Given the description of an element on the screen output the (x, y) to click on. 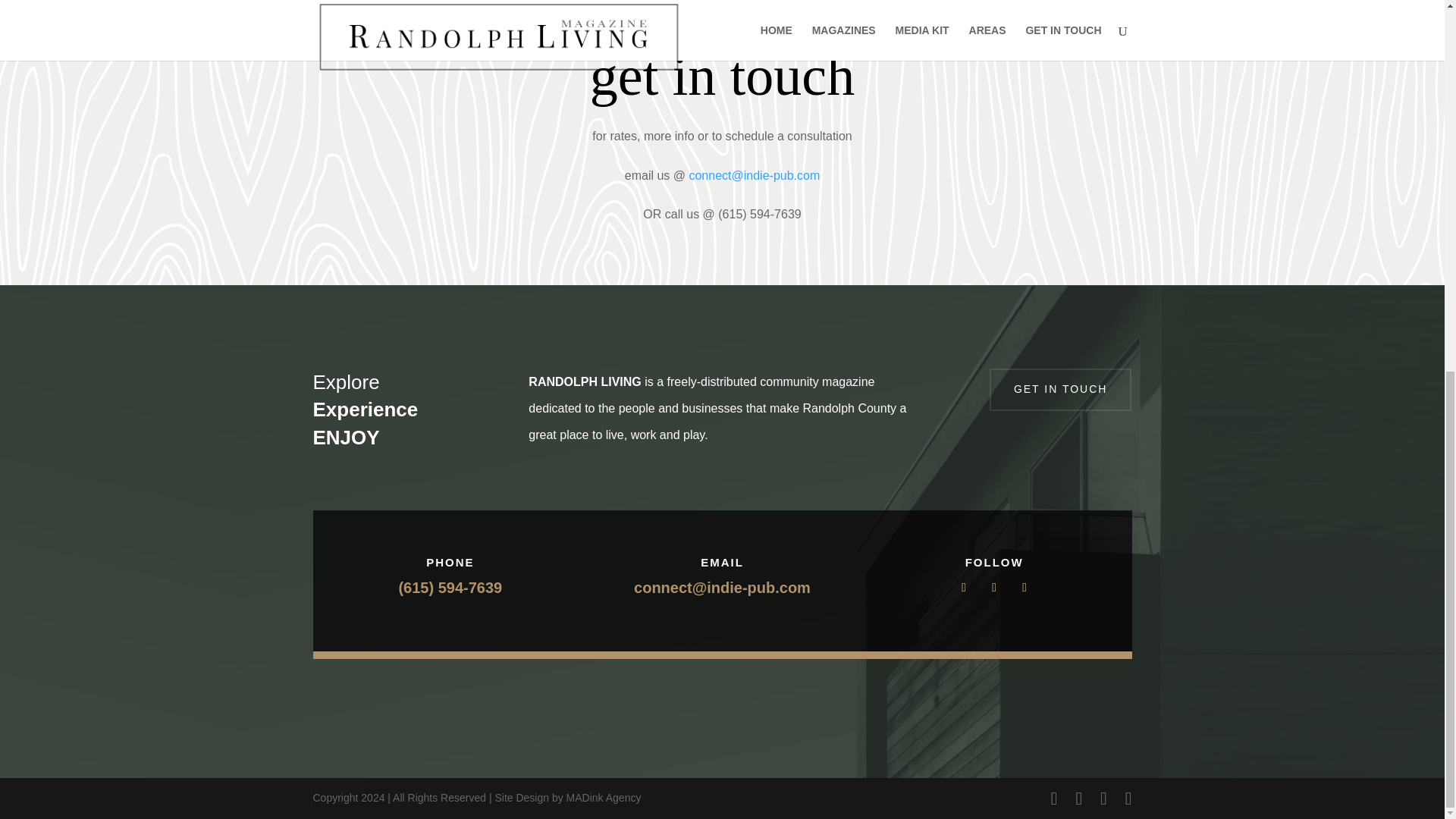
Follow on Twitter (993, 587)
GET IN TOUCH (1061, 389)
Follow on Facebook (963, 587)
Follow on Instagram (1023, 587)
